Given the description of an element on the screen output the (x, y) to click on. 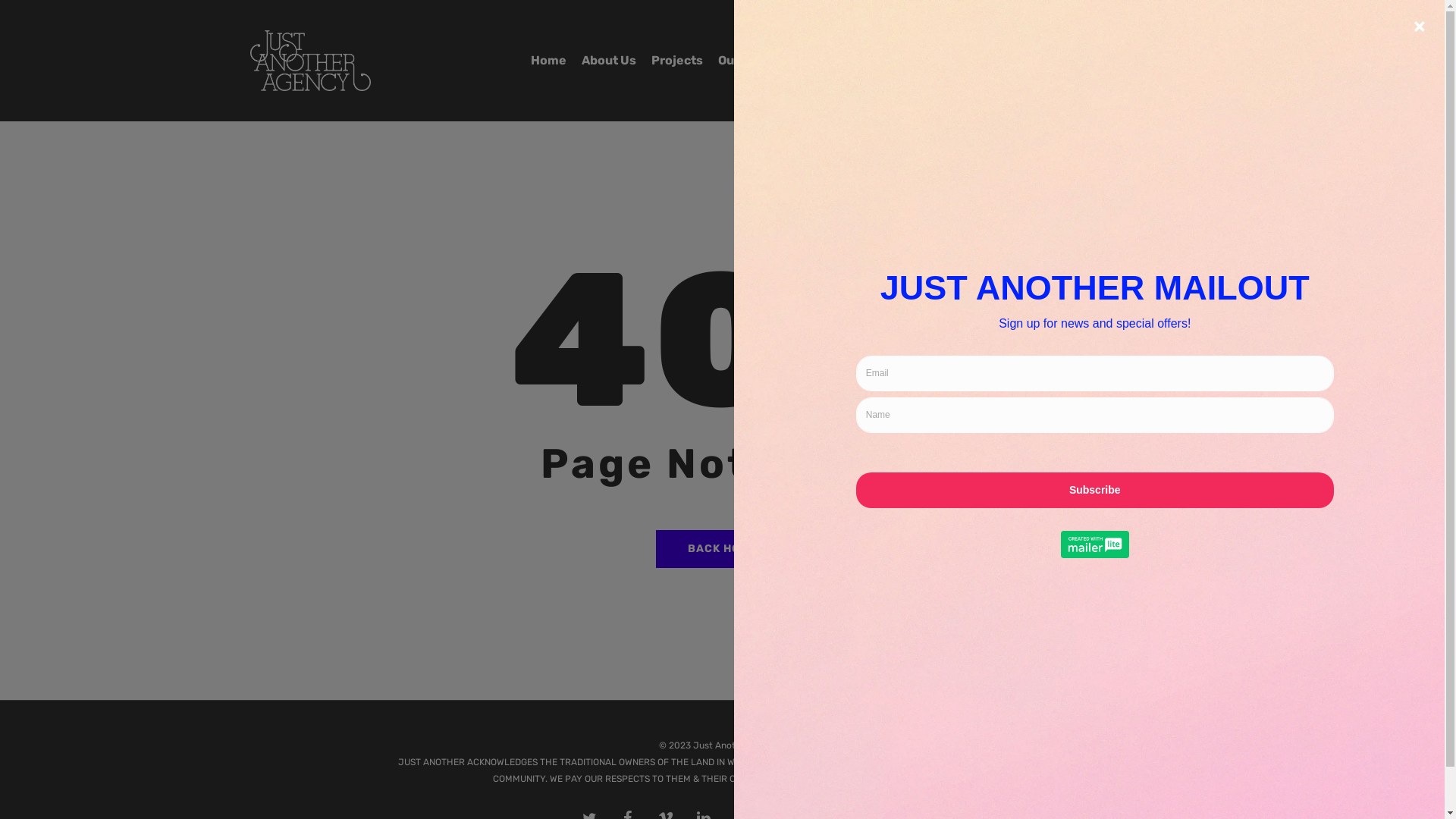
twitter Element type: text (1035, 60)
instagram Element type: text (1111, 60)
Home Element type: text (548, 60)
Shop Element type: text (913, 60)
BACK HOME Element type: text (721, 548)
About Us Element type: text (608, 60)
Our Artists Element type: text (750, 60)
Projects Element type: text (676, 60)
Project Space Element type: text (840, 60)
facebook Element type: text (1059, 60)
linkedin Element type: text (1084, 60)
behance Element type: text (1138, 60)
Contact Element type: text (967, 60)
